Given the description of an element on the screen output the (x, y) to click on. 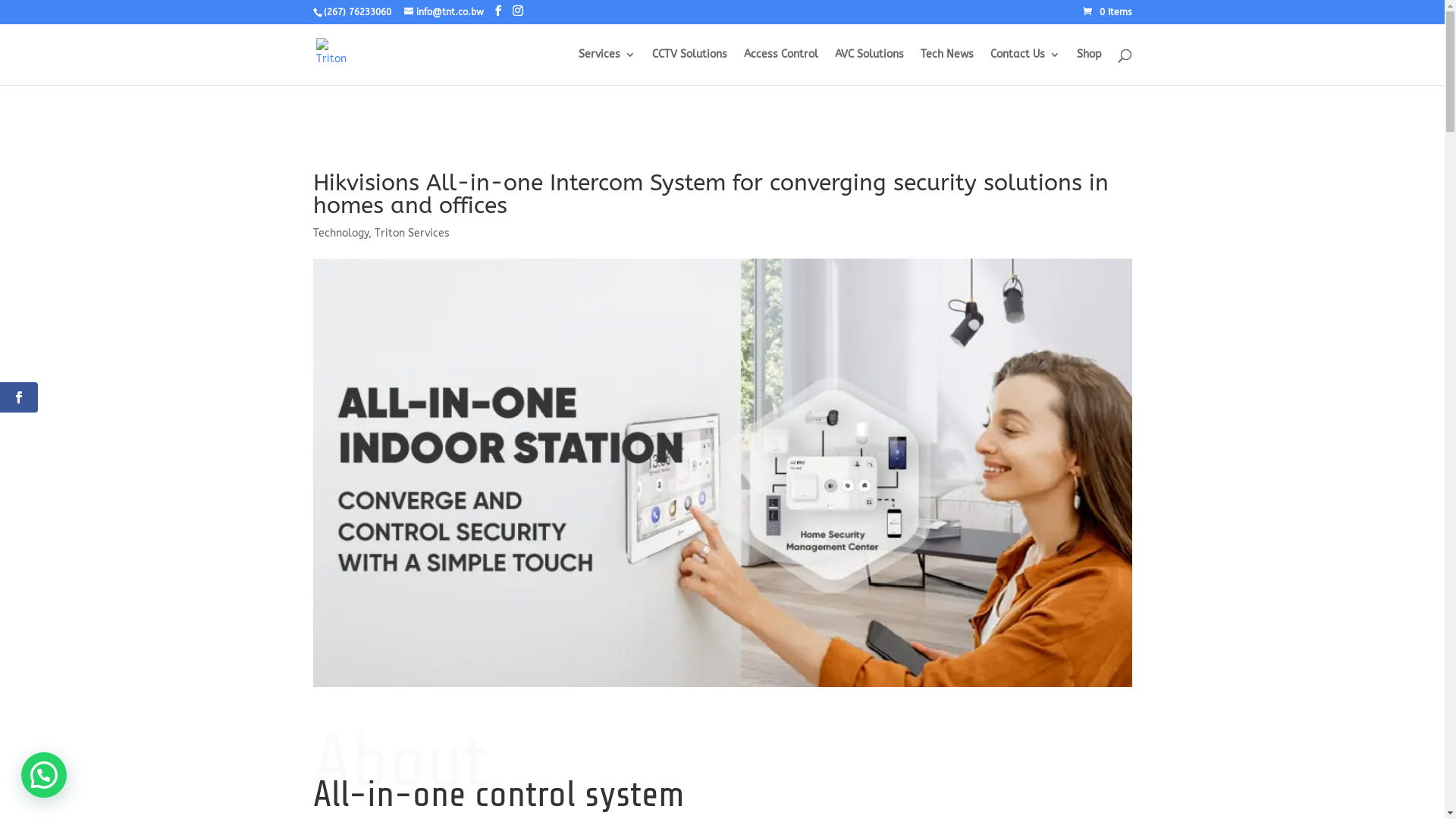
AVC Solutions Element type: text (868, 66)
Contact Us Element type: text (1025, 66)
Tech News Element type: text (946, 66)
Access Control Element type: text (780, 66)
0 Items Element type: text (1107, 11)
Services Element type: text (605, 66)
info@tnt.co.bw Element type: text (443, 11)
Technology Element type: text (339, 232)
Shop Element type: text (1088, 66)
CCTV Solutions Element type: text (689, 66)
Triton Services Element type: text (411, 232)
